Given the description of an element on the screen output the (x, y) to click on. 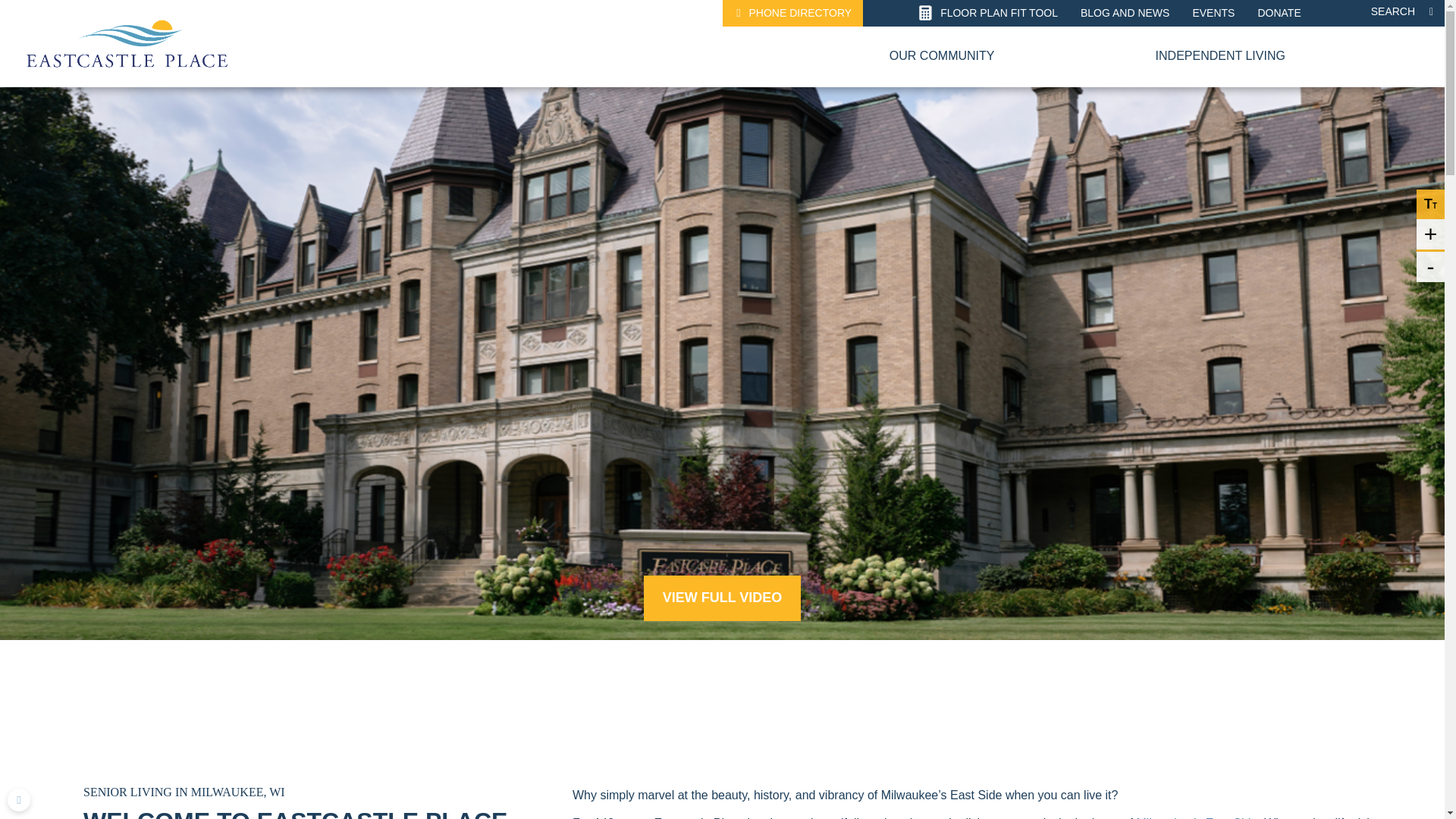
FLOOR PLAN FIT TOOL (991, 13)
Eastcastle Place (126, 43)
PHONE DIRECTORY (792, 13)
VIEW FULL VIDEO (722, 597)
DONATE (1278, 13)
BLOG AND NEWS (1124, 13)
View Full Video (722, 597)
INDEPENDENT LIVING (1220, 55)
EVENTS (1213, 13)
Milwaukee's East Side (1196, 817)
OUR COMMUNITY (941, 55)
